Given the description of an element on the screen output the (x, y) to click on. 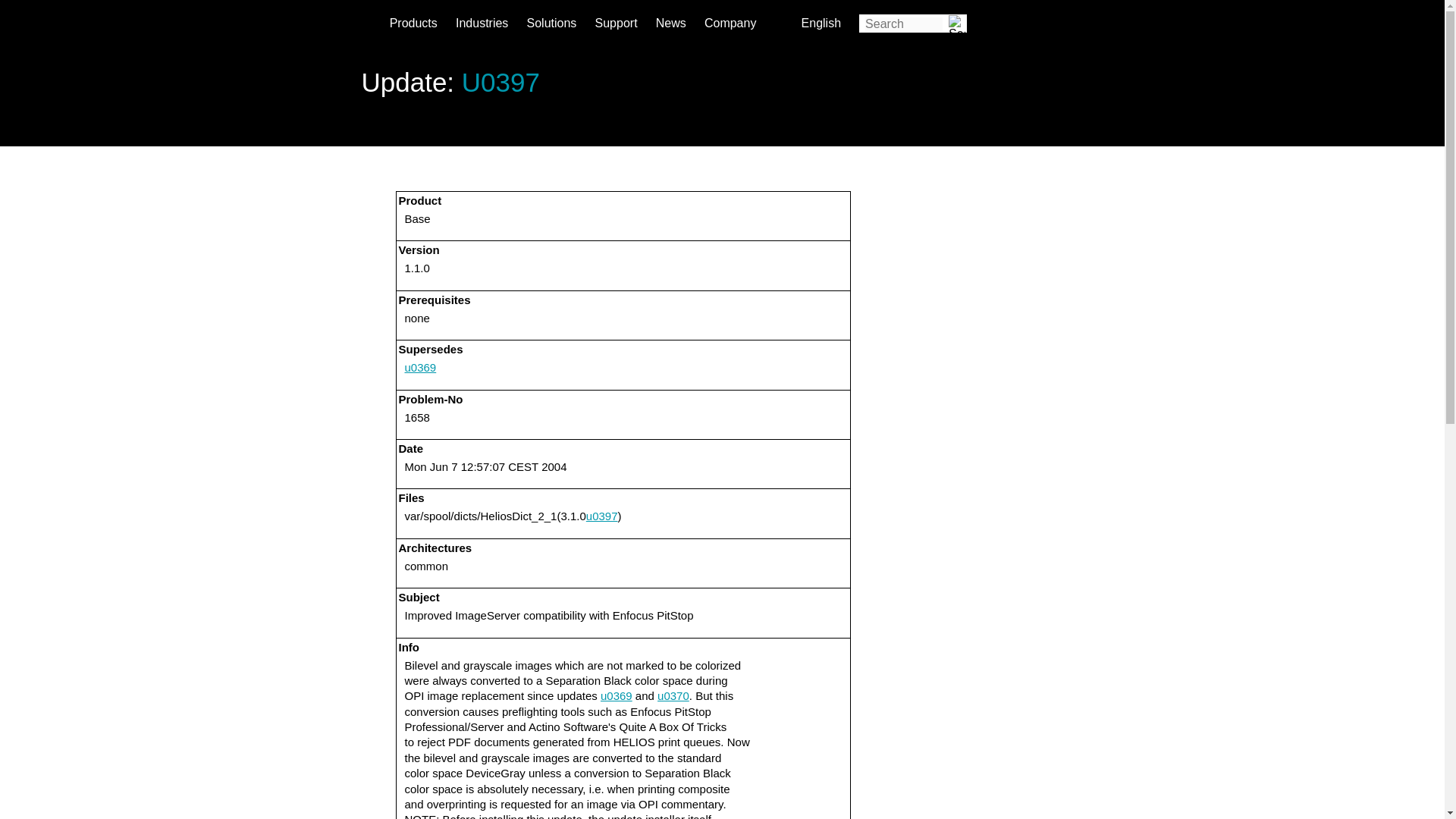
u0397 (601, 515)
U0397 (500, 81)
u0369 (420, 367)
u0369 (615, 695)
u0370 (673, 695)
